Given the description of an element on the screen output the (x, y) to click on. 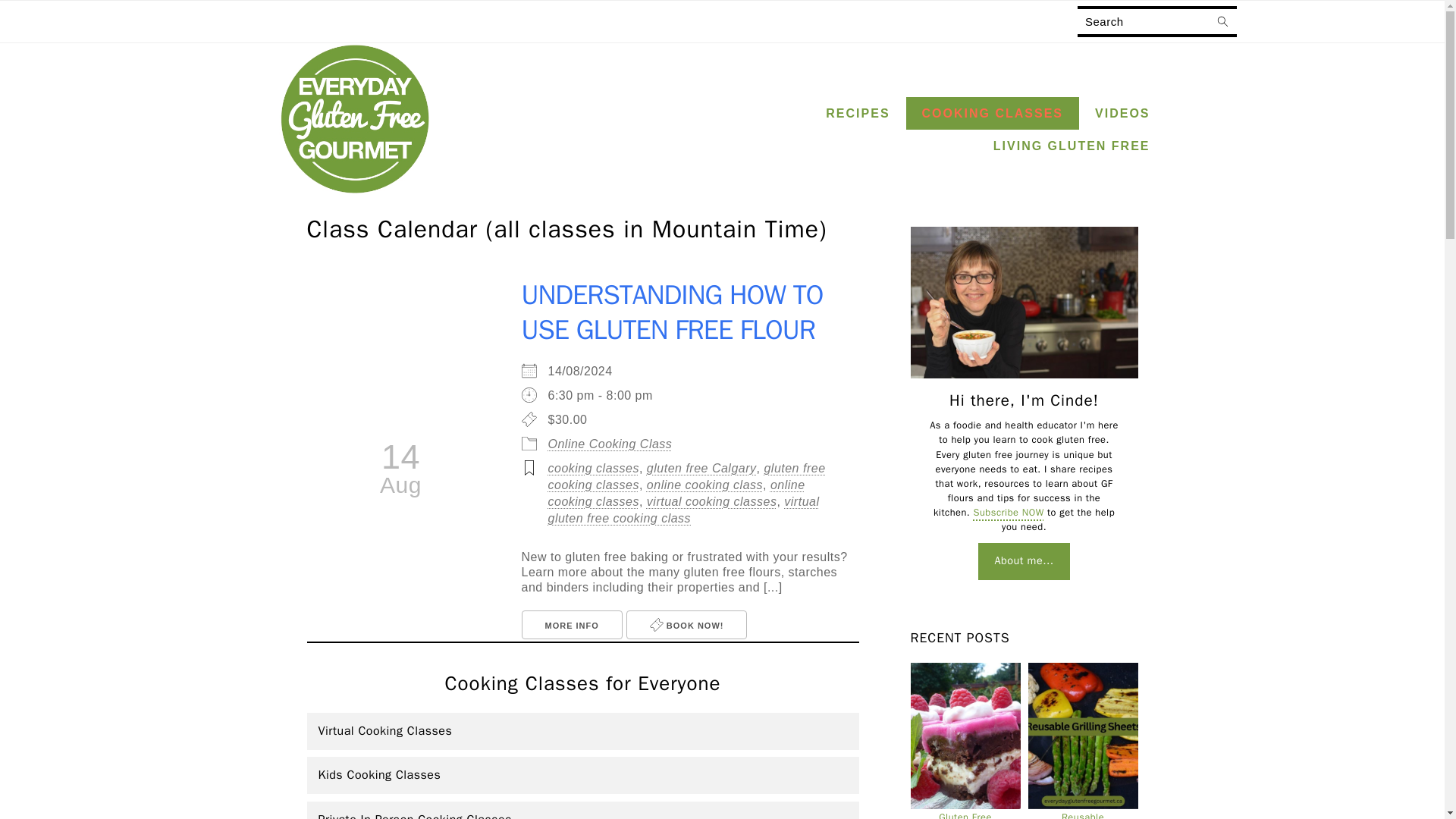
RECIPES (857, 113)
LIVING GLUTEN FREE (1071, 145)
Pinterest (1355, 22)
YouTube (1415, 22)
Twitter (1385, 22)
LinkedIn (1325, 22)
COOKING CLASSES (991, 113)
Everyday Gluten Free Gourmet (354, 191)
CONTACT (606, 19)
Facebook (1264, 22)
Facebook (1264, 22)
START HERE (427, 19)
